Given the description of an element on the screen output the (x, y) to click on. 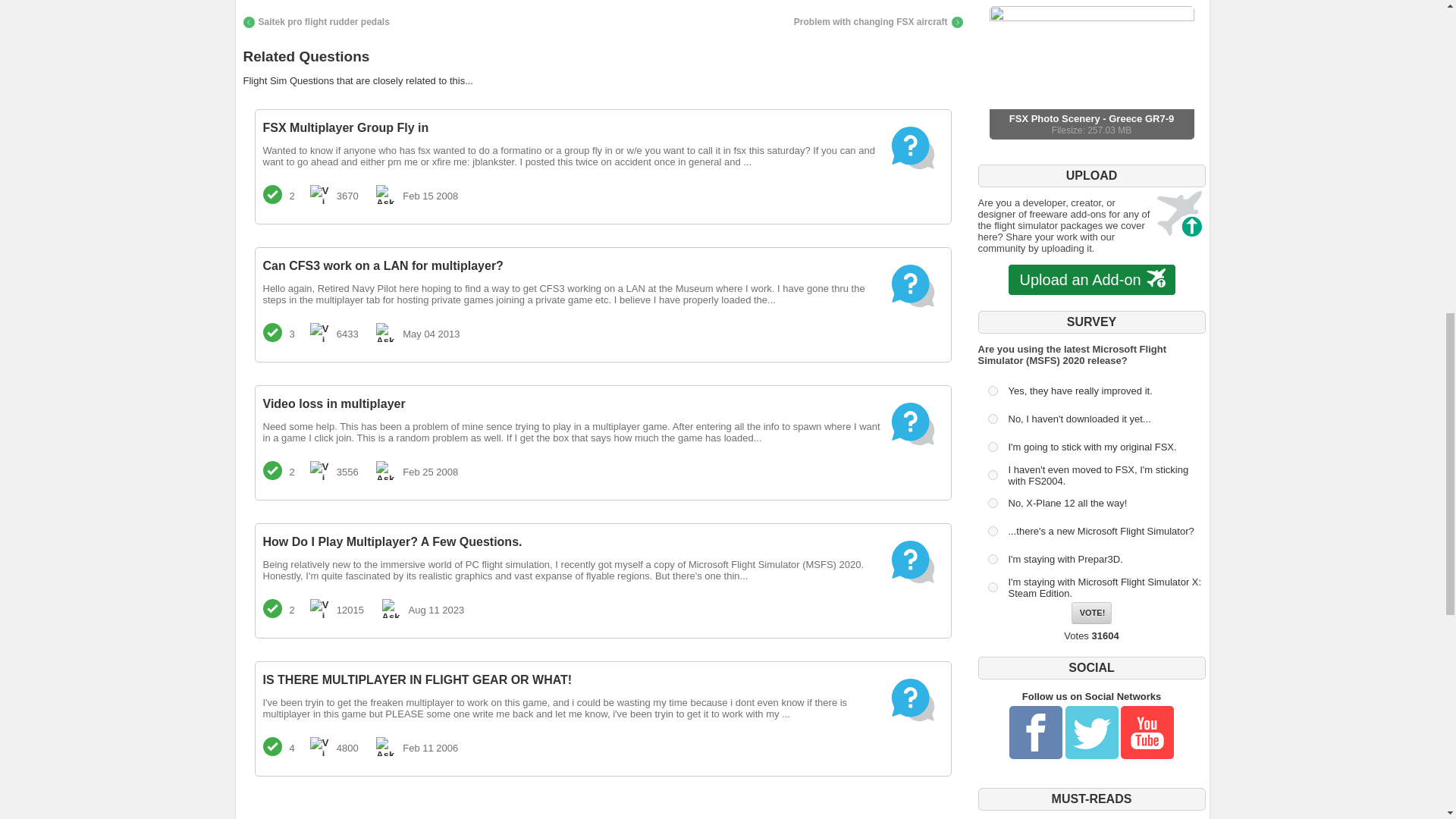
Vote! (1091, 612)
Vote! (1091, 612)
Number of answers to the question (271, 332)
5 (992, 502)
Previous Question (315, 21)
Upload an Add-on (1090, 279)
6 (992, 531)
Click to view question (1090, 72)
2 (602, 439)
